Given the description of an element on the screen output the (x, y) to click on. 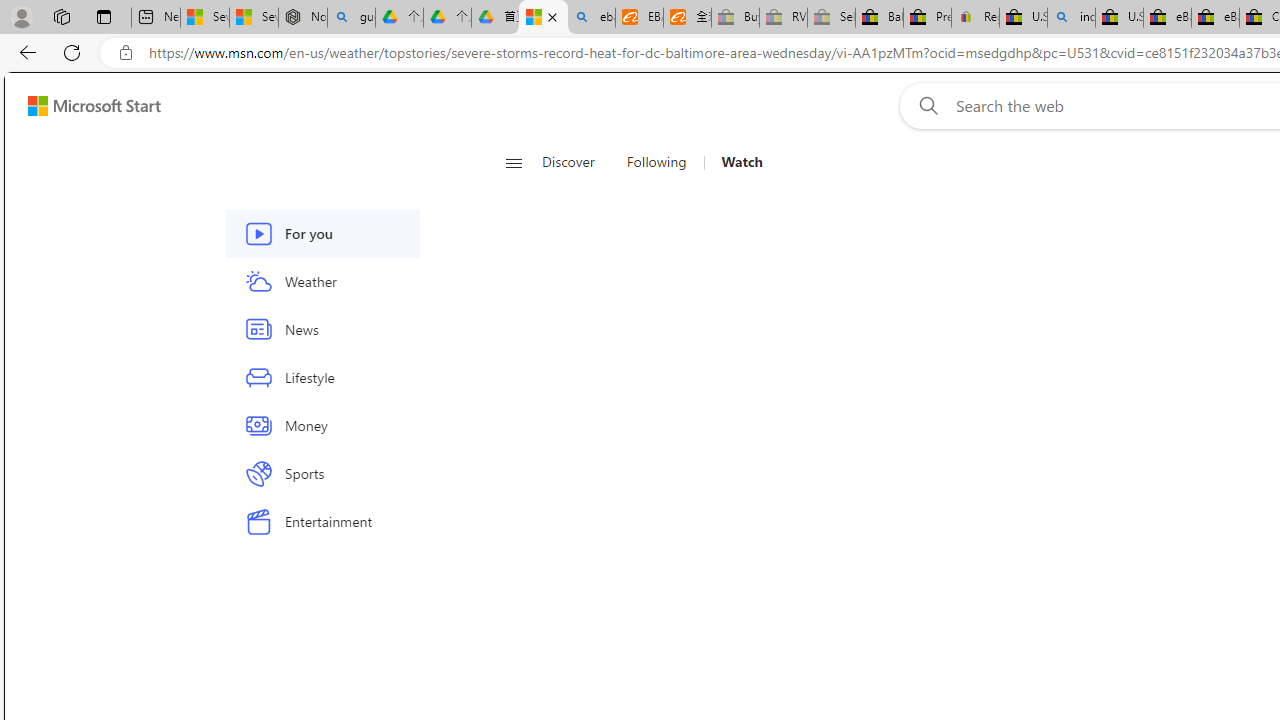
eBay Inc. Reports Third Quarter 2023 Results (1215, 17)
Web search (924, 105)
Open navigation menu (513, 162)
Skip to footer (82, 105)
Buy Auto Parts & Accessories | eBay - Sleeping (735, 17)
